Given the description of an element on the screen output the (x, y) to click on. 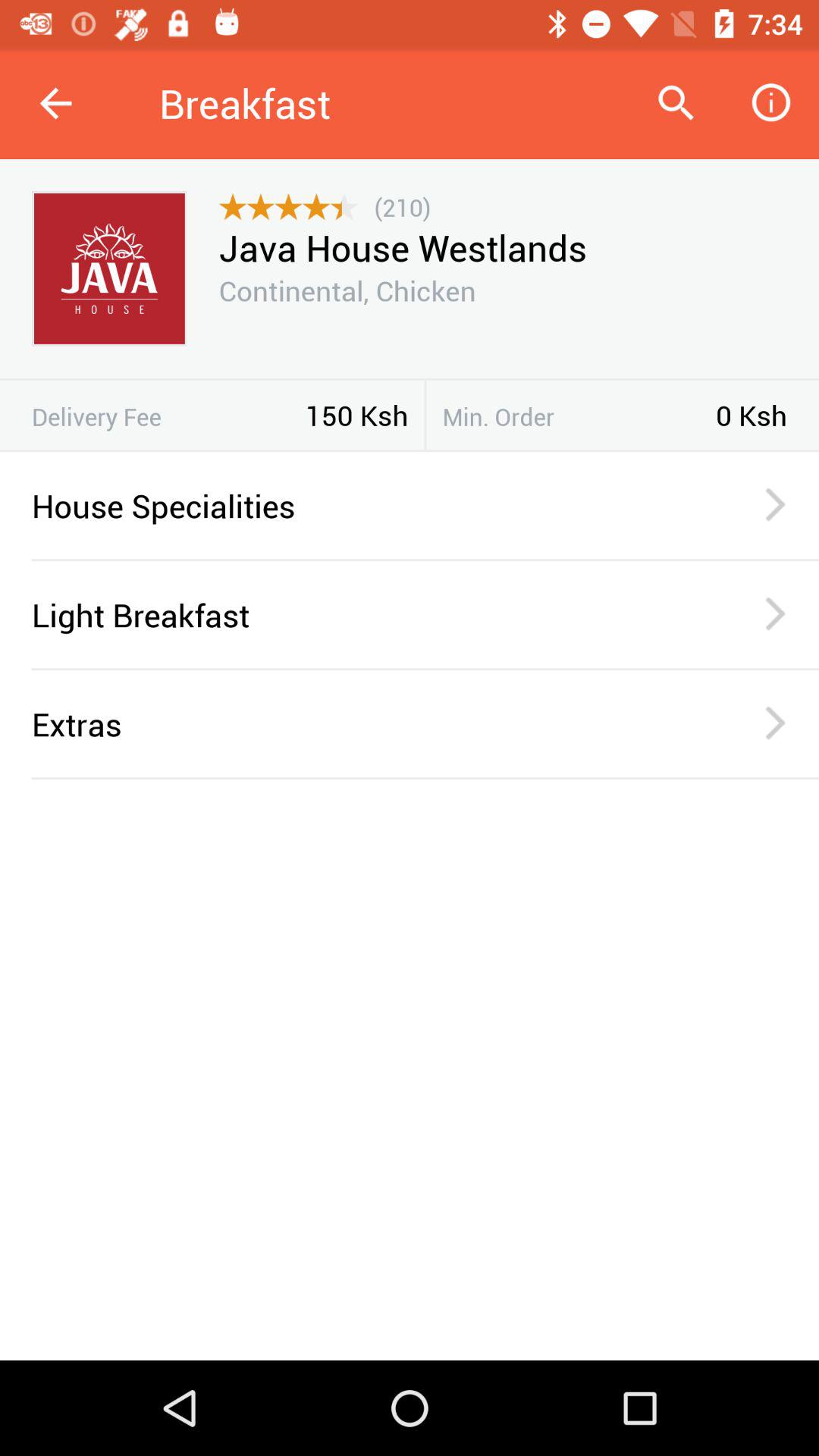
jump to light breakfast (365, 614)
